Given the description of an element on the screen output the (x, y) to click on. 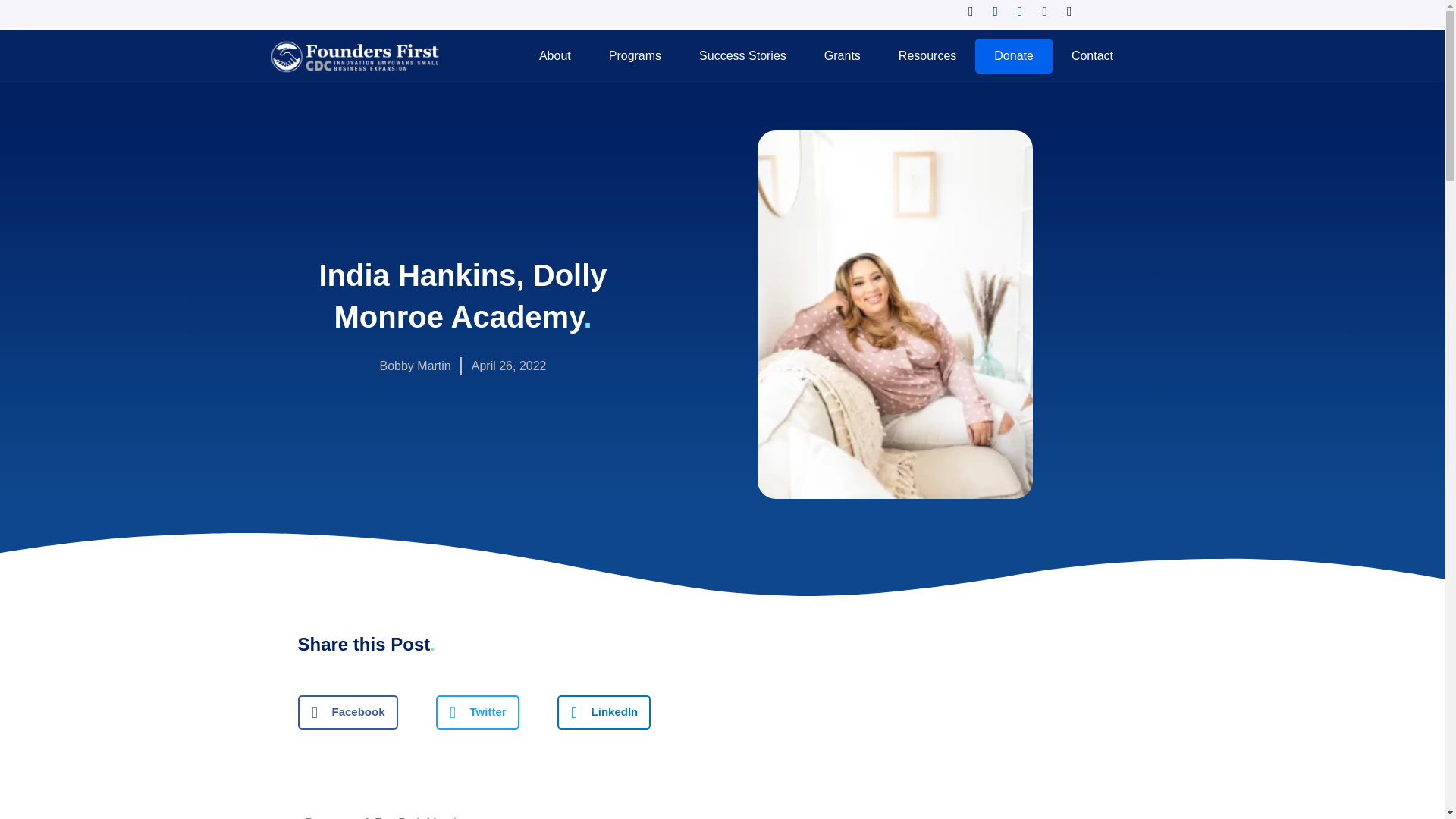
Resources (927, 55)
About (554, 55)
Donate (1013, 55)
Grants (842, 55)
Contact (1092, 55)
Programs (634, 55)
Success Stories (742, 55)
